Given the description of an element on the screen output the (x, y) to click on. 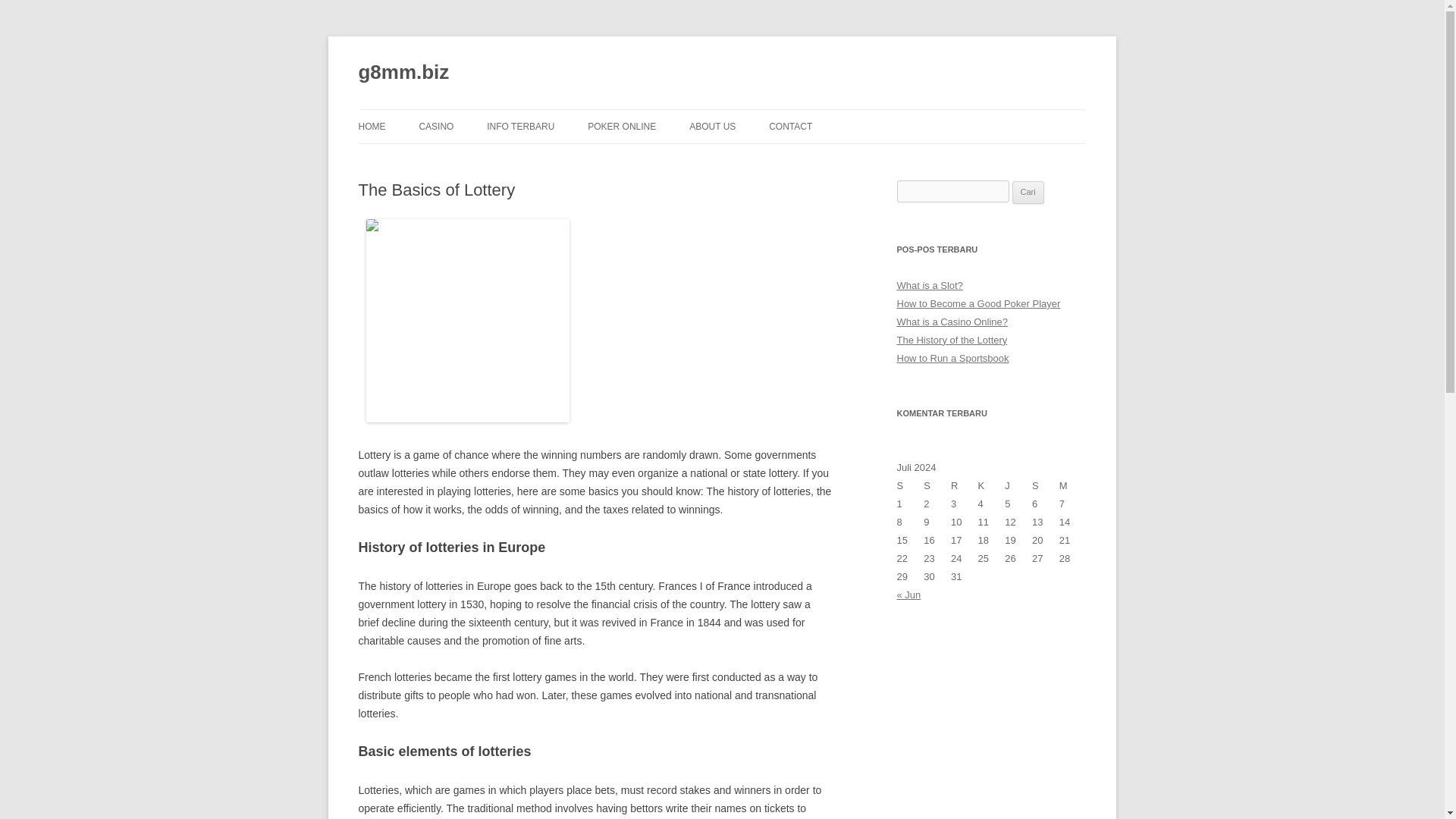
How to Run a Sportsbook (952, 357)
What is a Slot? (929, 285)
Cari (1027, 191)
Cari (1027, 191)
The History of the Lottery (951, 339)
Sabtu (1045, 485)
ABOUT US (711, 126)
Selasa (936, 485)
INFO TERBARU (520, 126)
CASINO (435, 126)
g8mm.biz (403, 72)
What is a Casino Online? (951, 321)
Minggu (1072, 485)
Rabu (964, 485)
